Given the description of an element on the screen output the (x, y) to click on. 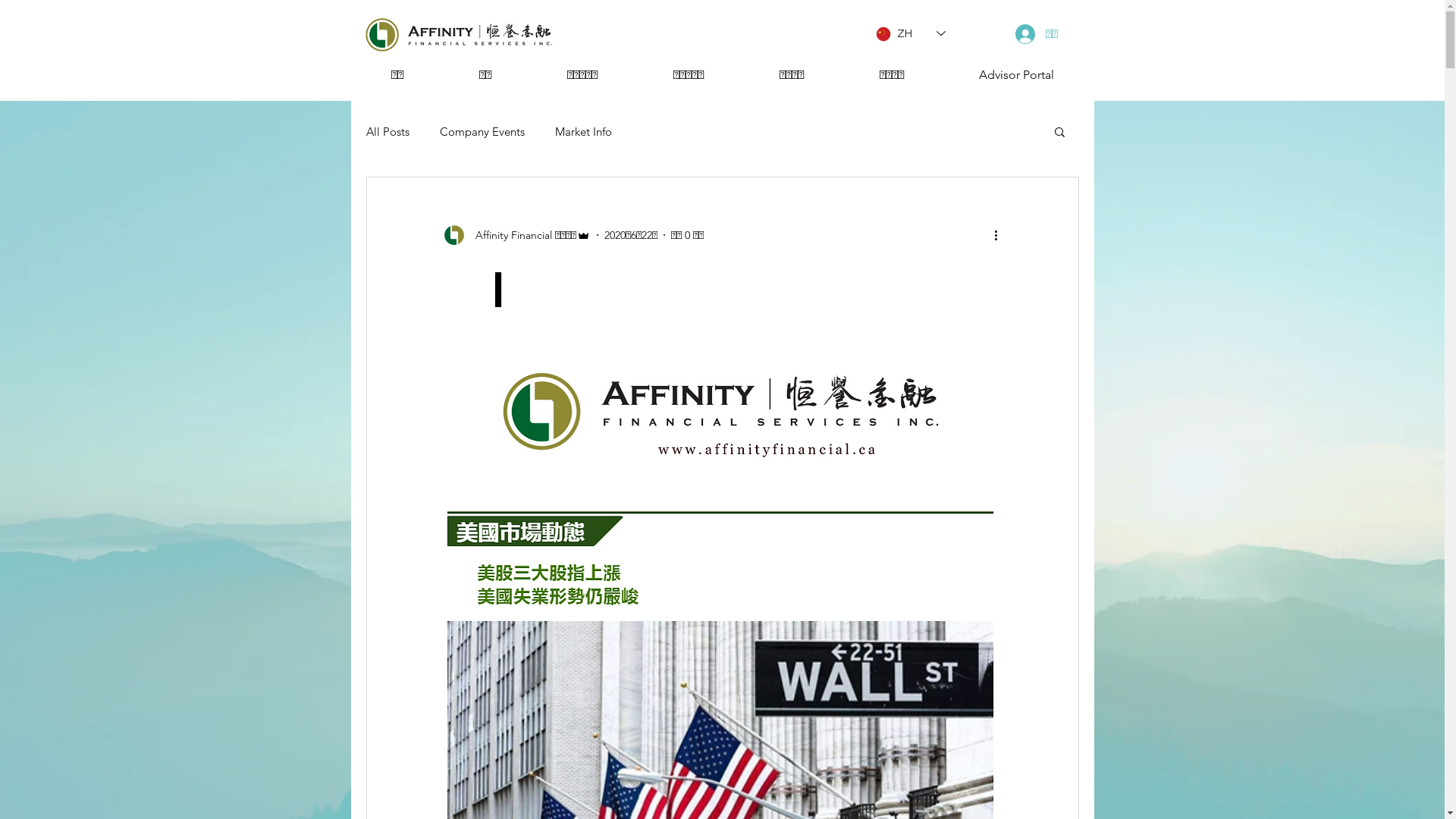
All Posts Element type: text (386, 131)
Company Events Element type: text (481, 131)
Market Info Element type: text (583, 131)
Advisor Portal Element type: text (1016, 74)
